Given the description of an element on the screen output the (x, y) to click on. 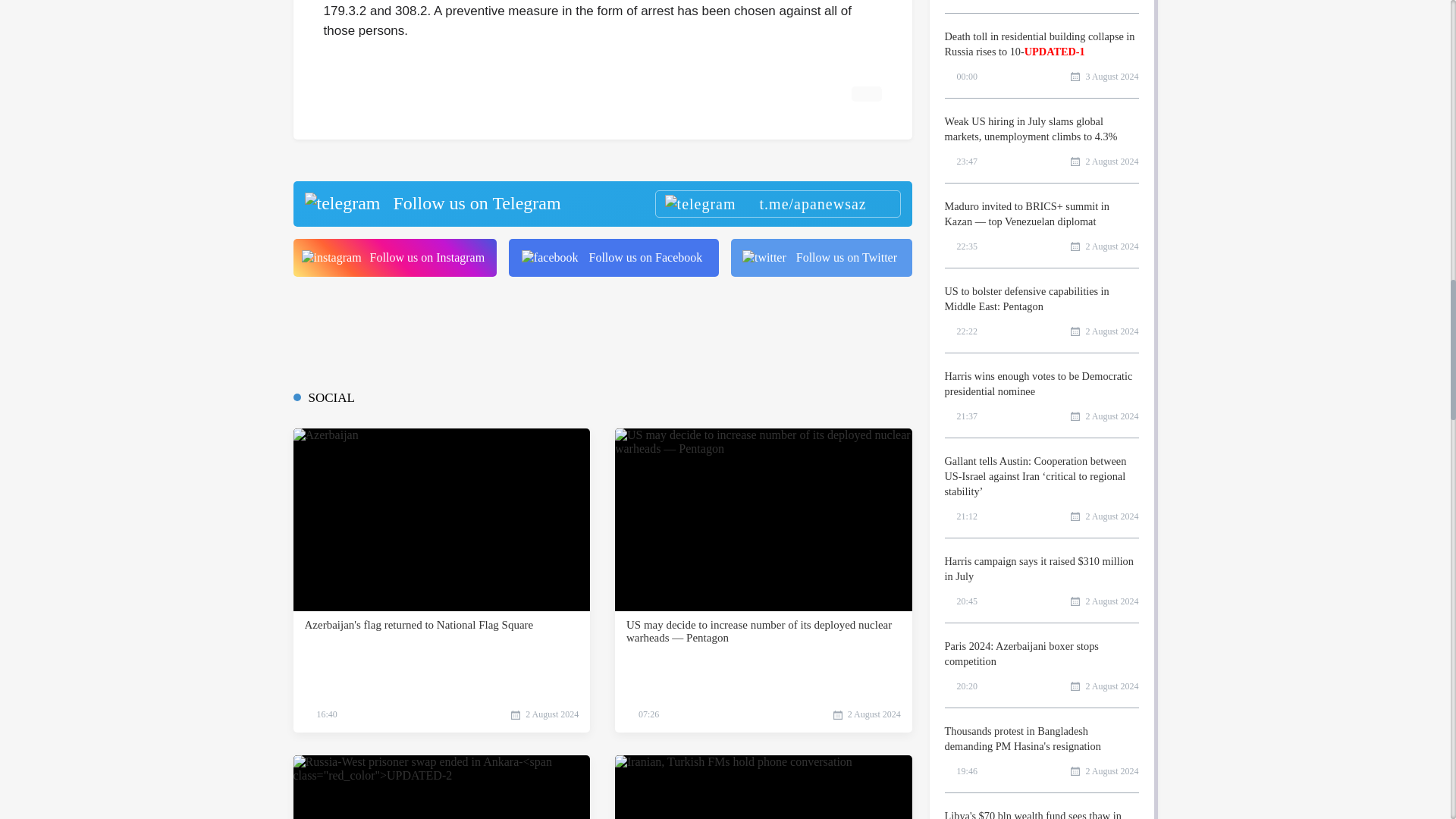
Follow us on Telegram (601, 203)
Follow us on Twitter (821, 257)
Follow us on Instagram (394, 257)
Follow us on Facebook (613, 257)
